Given the description of an element on the screen output the (x, y) to click on. 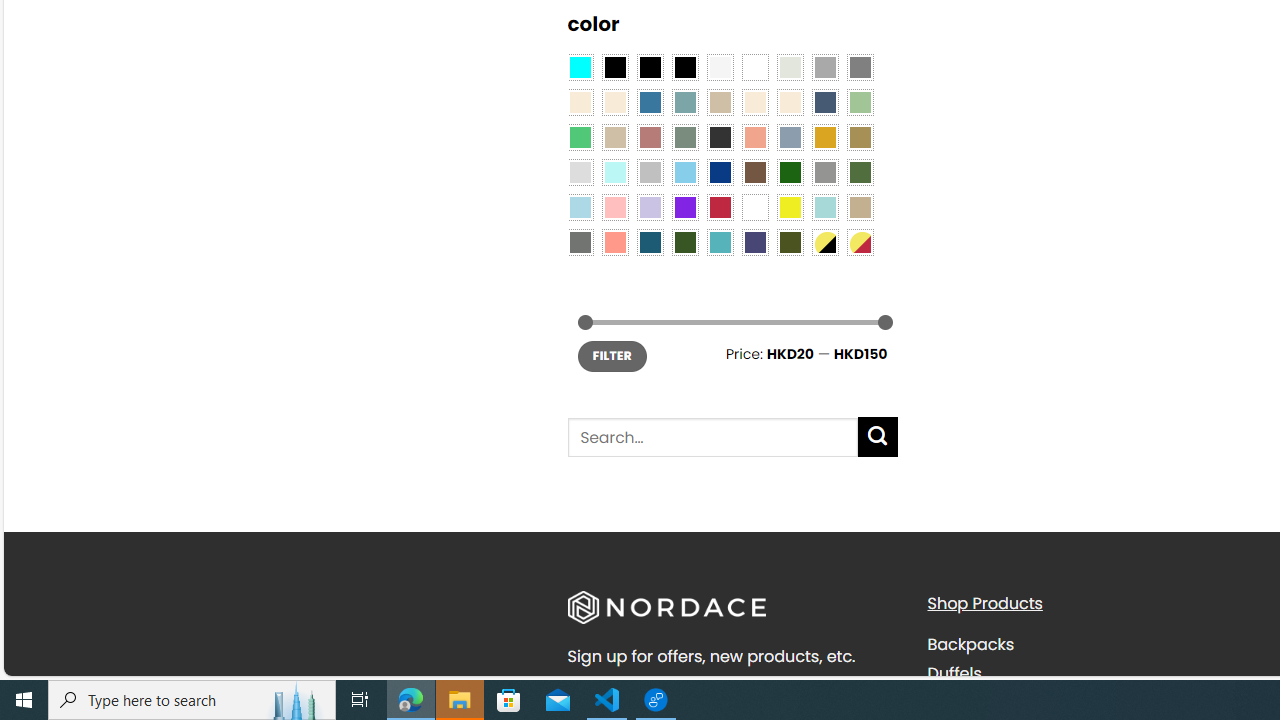
Teal (719, 242)
All Black (614, 67)
Submit (877, 436)
Dull Nickle (579, 242)
FILTER (612, 356)
Light Purple (650, 208)
Black-Brown (684, 67)
Aqua Blue (579, 67)
All Gray (859, 67)
Khaki (859, 208)
Aqua (824, 208)
Search for: (712, 436)
Rose (650, 138)
Army Green (789, 242)
Light Gray (579, 172)
